Given the description of an element on the screen output the (x, y) to click on. 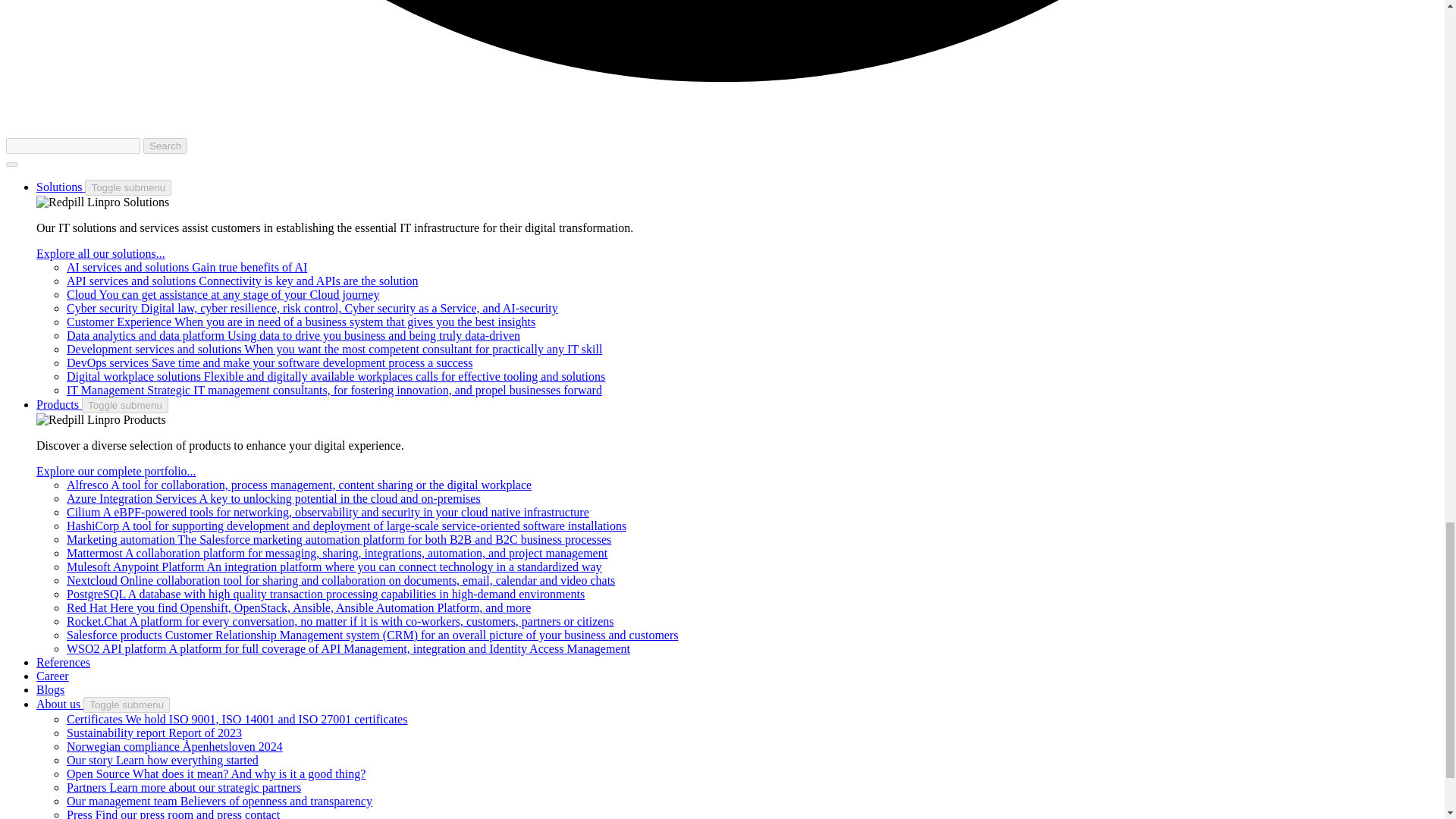
Gain true benefits of AI (186, 267)
Solutions (60, 186)
Products (58, 404)
You can get assistance at any stage of your Cloud journey (222, 294)
